Given the description of an element on the screen output the (x, y) to click on. 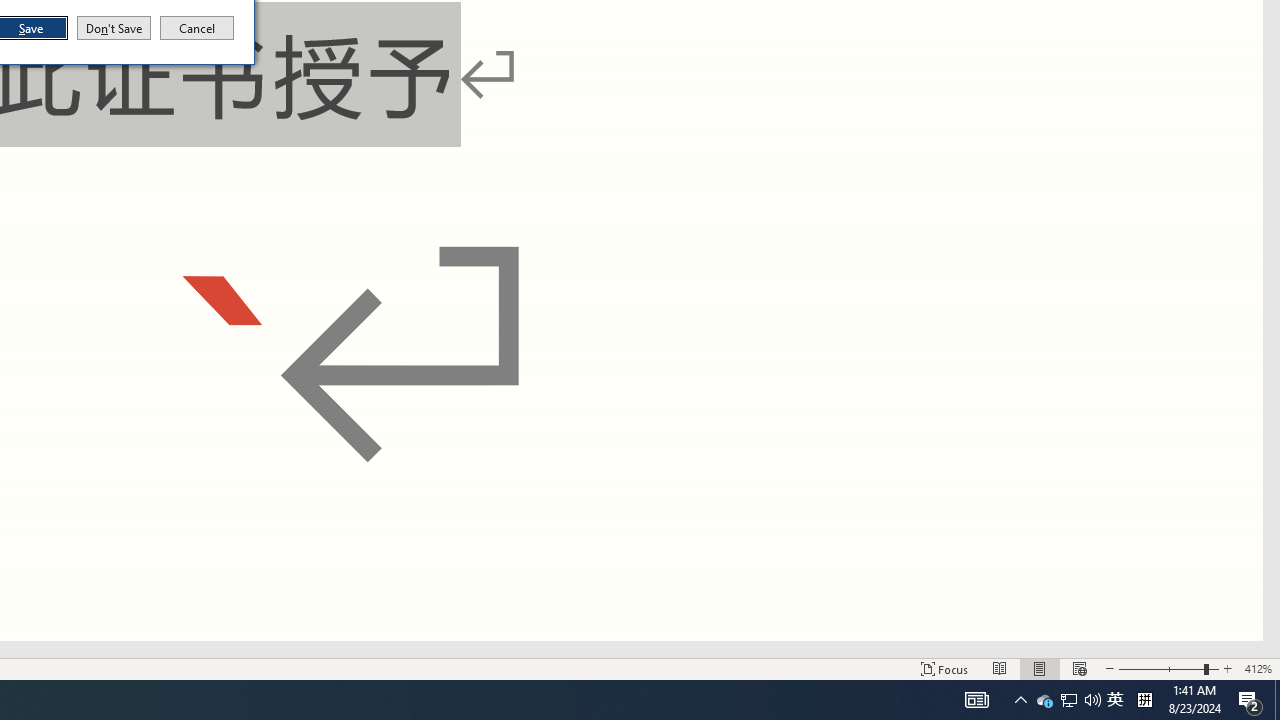
Zoom 412% (1258, 668)
Cancel (1115, 699)
Don't Save (197, 27)
